Given the description of an element on the screen output the (x, y) to click on. 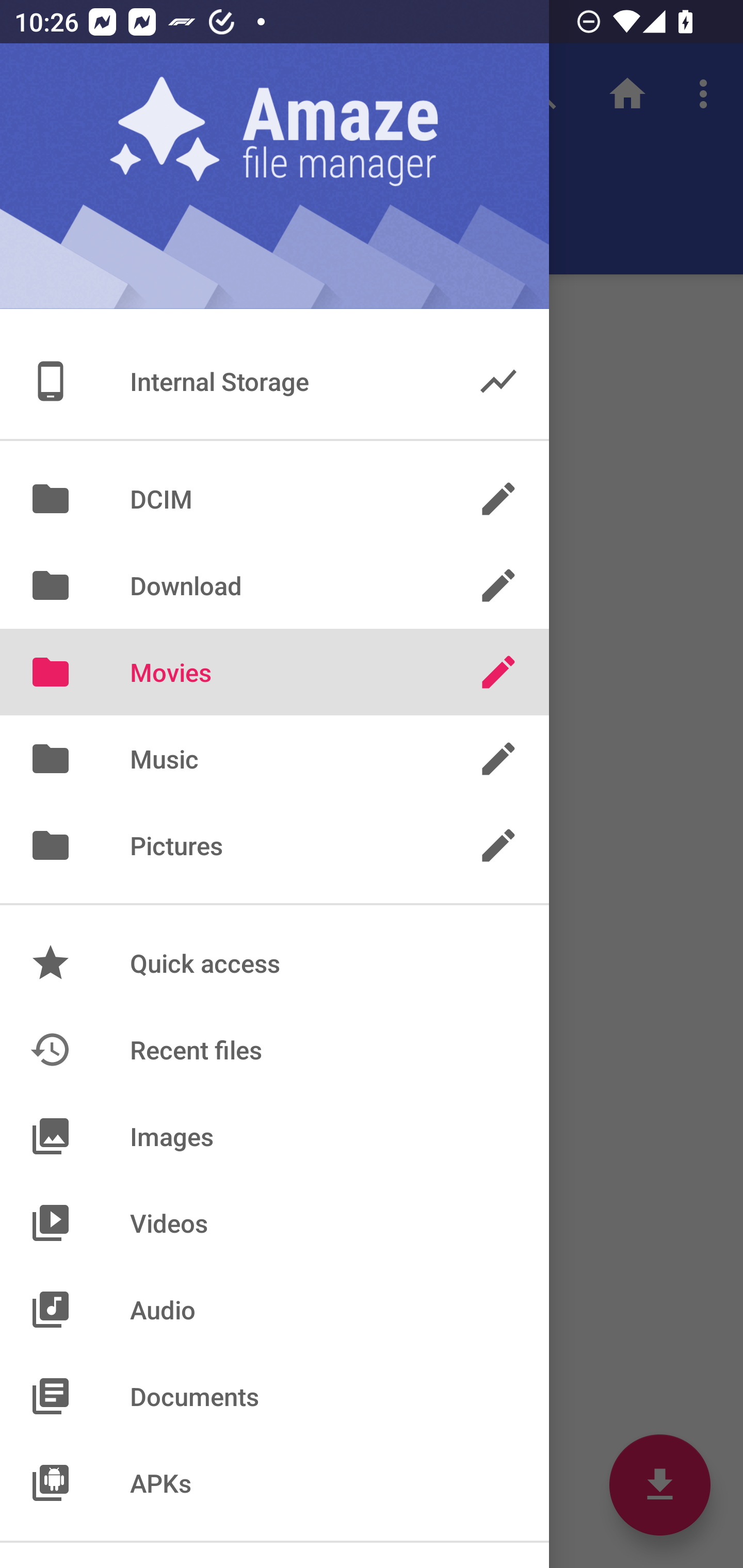
Internal Storage (274, 380)
DCIM (274, 498)
Download (274, 585)
Movies (274, 671)
Music (274, 758)
Pictures (274, 845)
Quick access (274, 963)
Recent files (274, 1049)
Images (274, 1135)
Videos (274, 1222)
Audio (274, 1309)
Documents (274, 1396)
APKs (274, 1482)
